Given the description of an element on the screen output the (x, y) to click on. 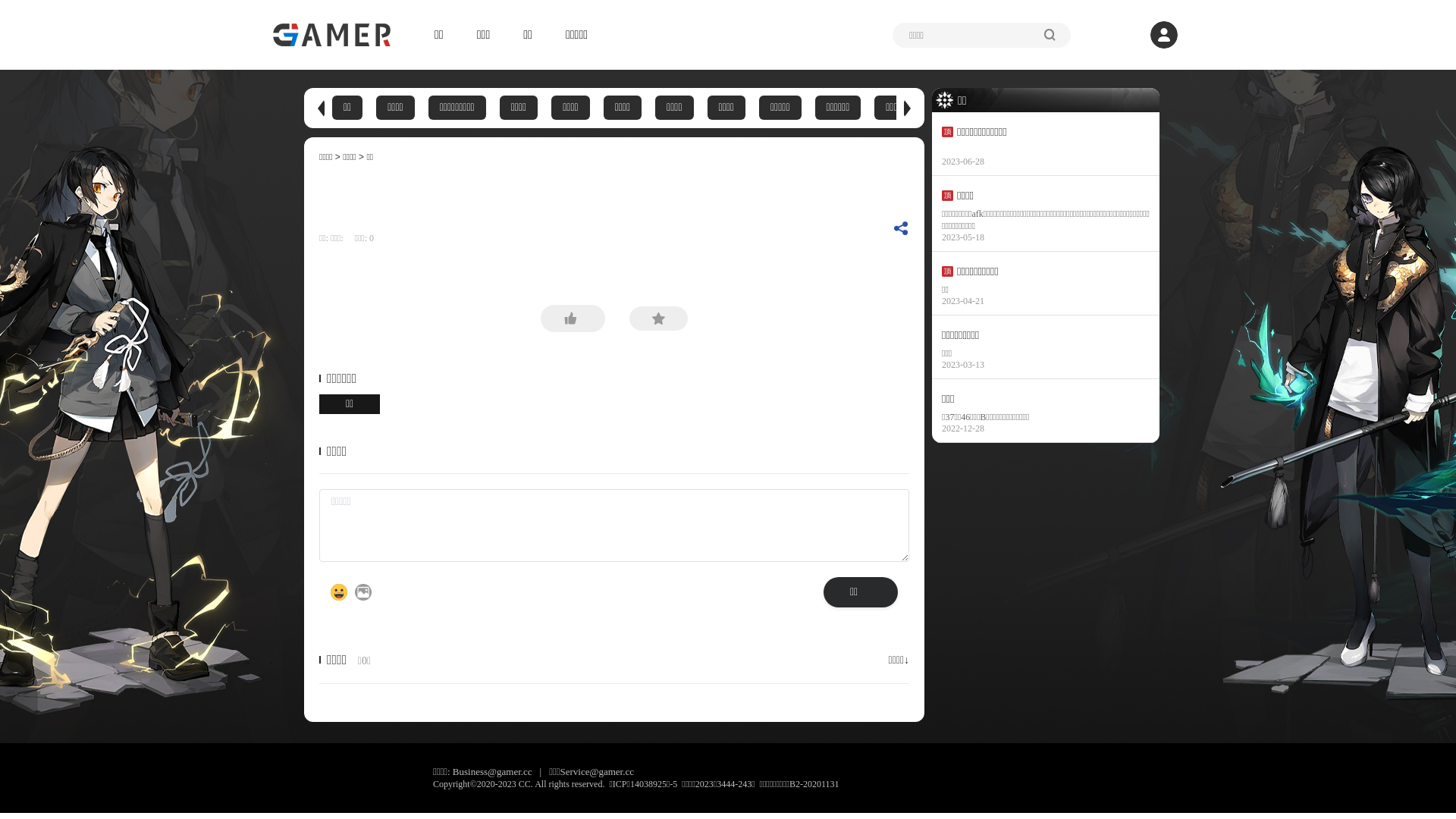
0 Element type: text (371, 237)
    Element type: text (348, 237)
